Given the description of an element on the screen output the (x, y) to click on. 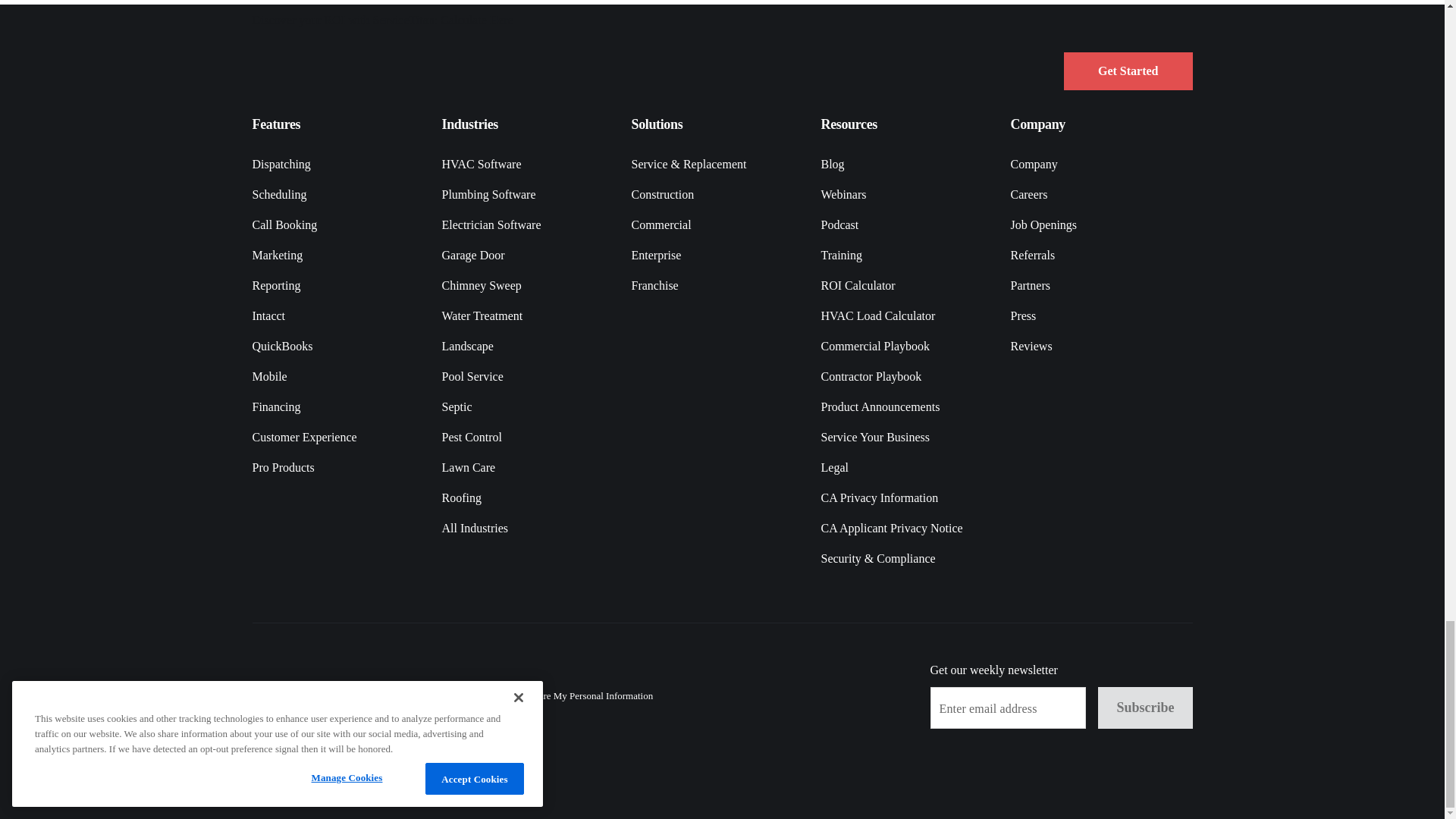
ServiceTitan (337, 68)
